Given the description of an element on the screen output the (x, y) to click on. 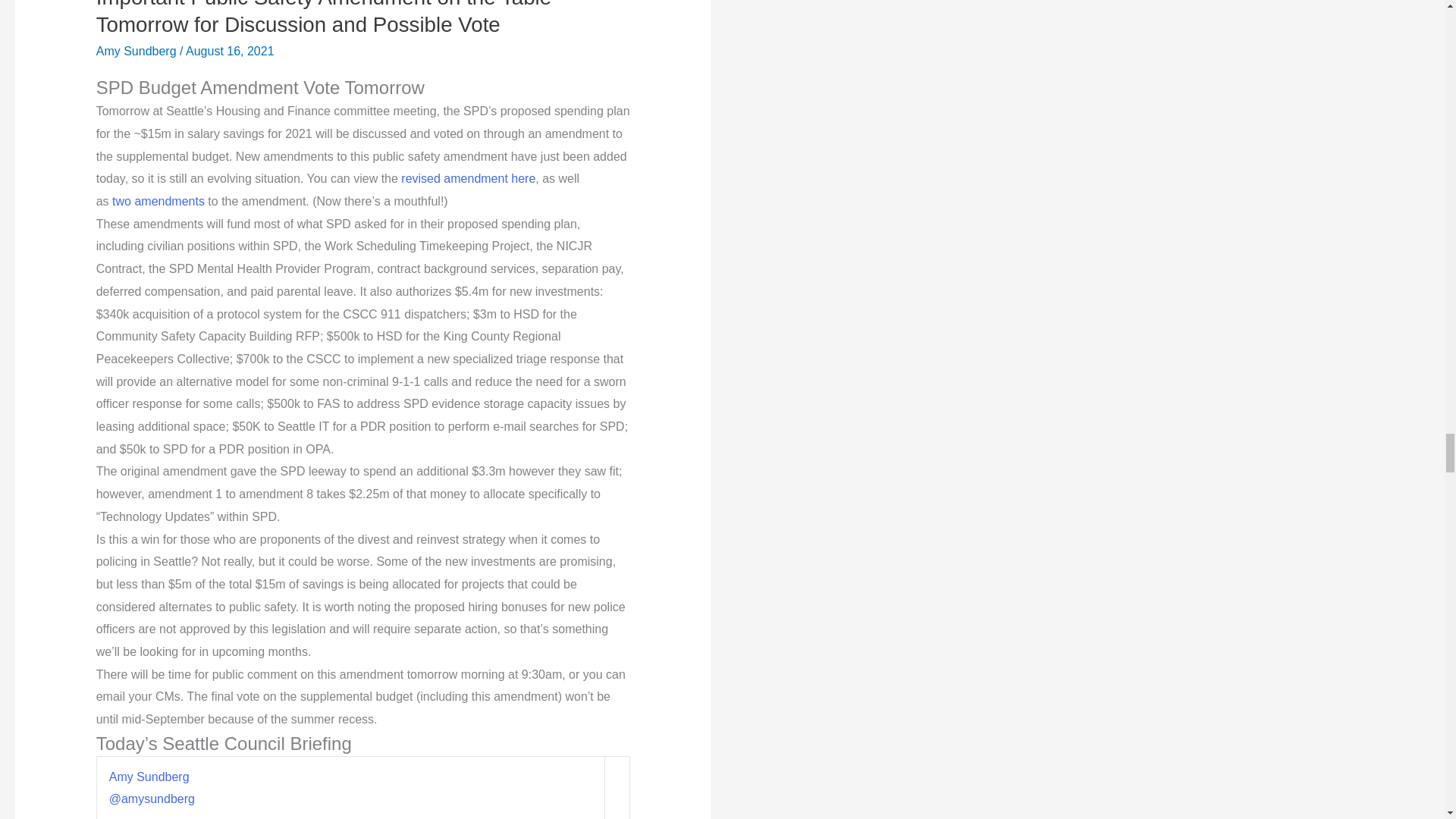
View all posts by Amy Sundberg (137, 51)
